Given the description of an element on the screen output the (x, y) to click on. 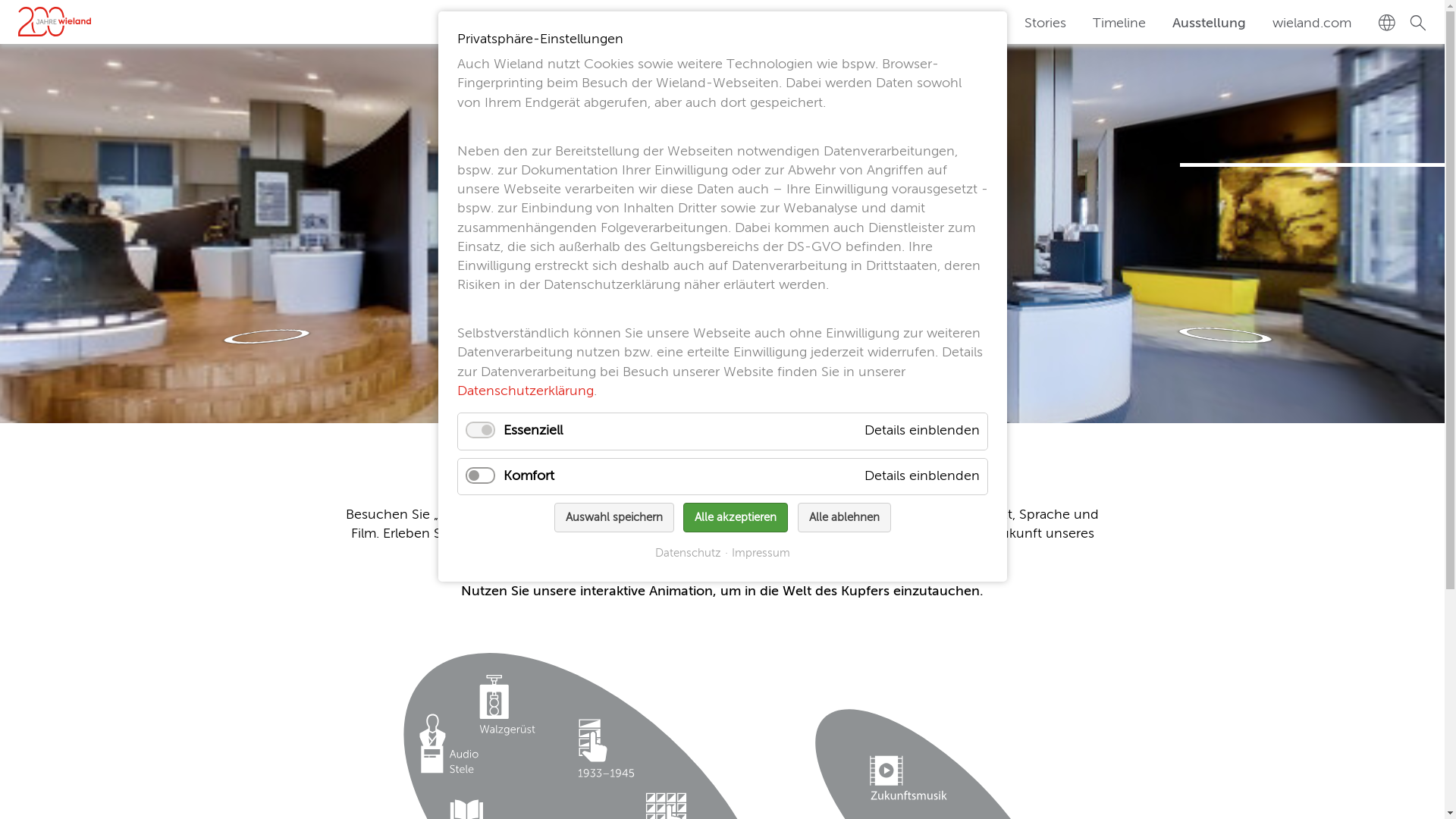
Datenschutz Element type: text (688, 553)
Auswahl speichern Element type: text (613, 517)
Impressum Element type: text (757, 553)
Stories Element type: text (1045, 23)
Details einblenden Element type: text (921, 476)
Alle ablehnen Element type: text (844, 517)
Alle akzeptieren Element type: text (735, 517)
wieland.com Element type: text (1311, 23)
Wieland 200 Website - DE Element type: hover (53, 19)
Timeline Element type: text (1118, 23)
Details einblenden Element type: text (921, 431)
